Given the description of an element on the screen output the (x, y) to click on. 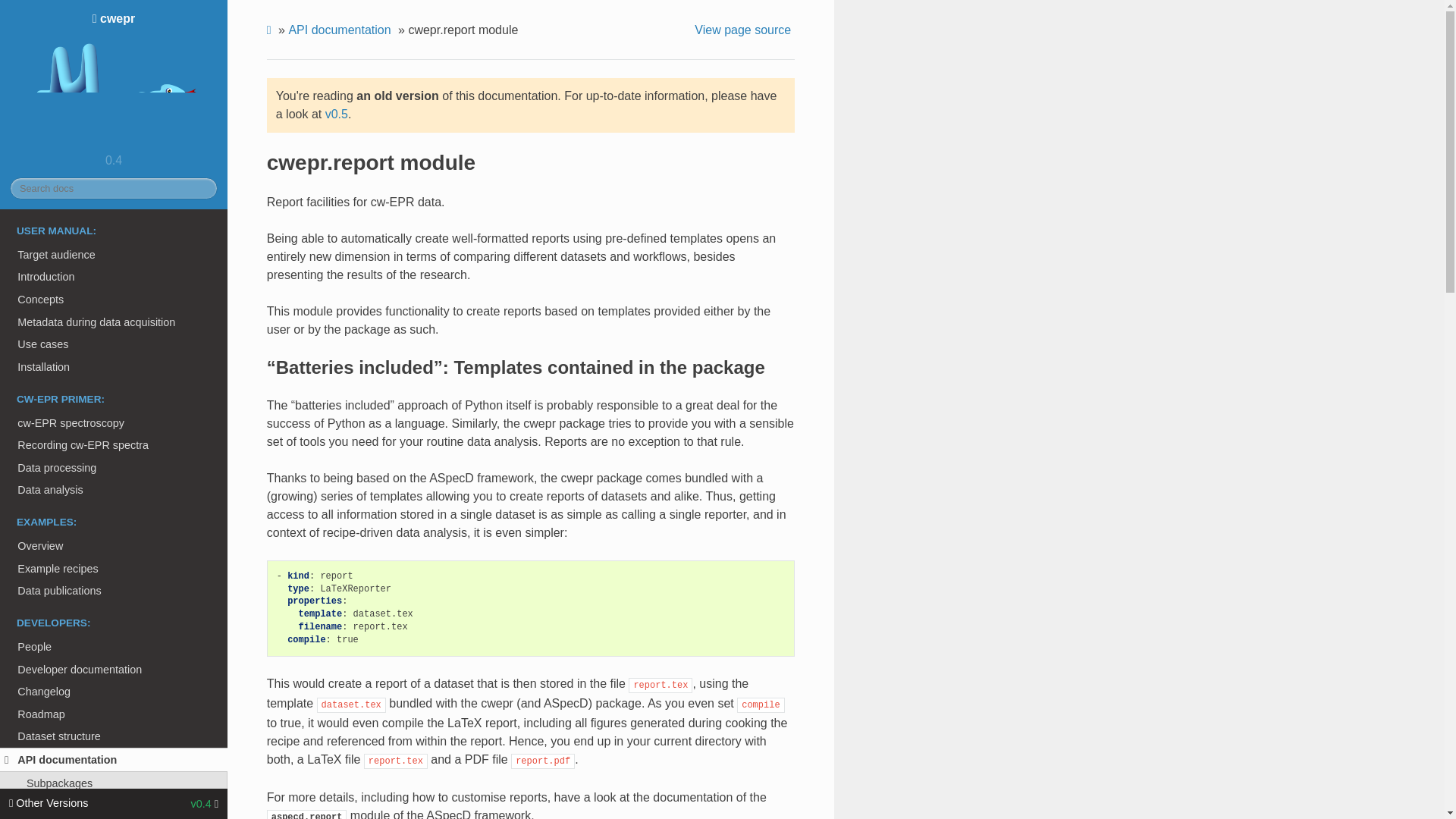
Introduction (113, 277)
Concepts (113, 299)
cwepr (113, 79)
Overview (113, 545)
Developer documentation (113, 669)
Roadmap (113, 713)
View page source (744, 29)
Submodules (113, 804)
Installation (113, 366)
Dataset structure (113, 736)
